Given the description of an element on the screen output the (x, y) to click on. 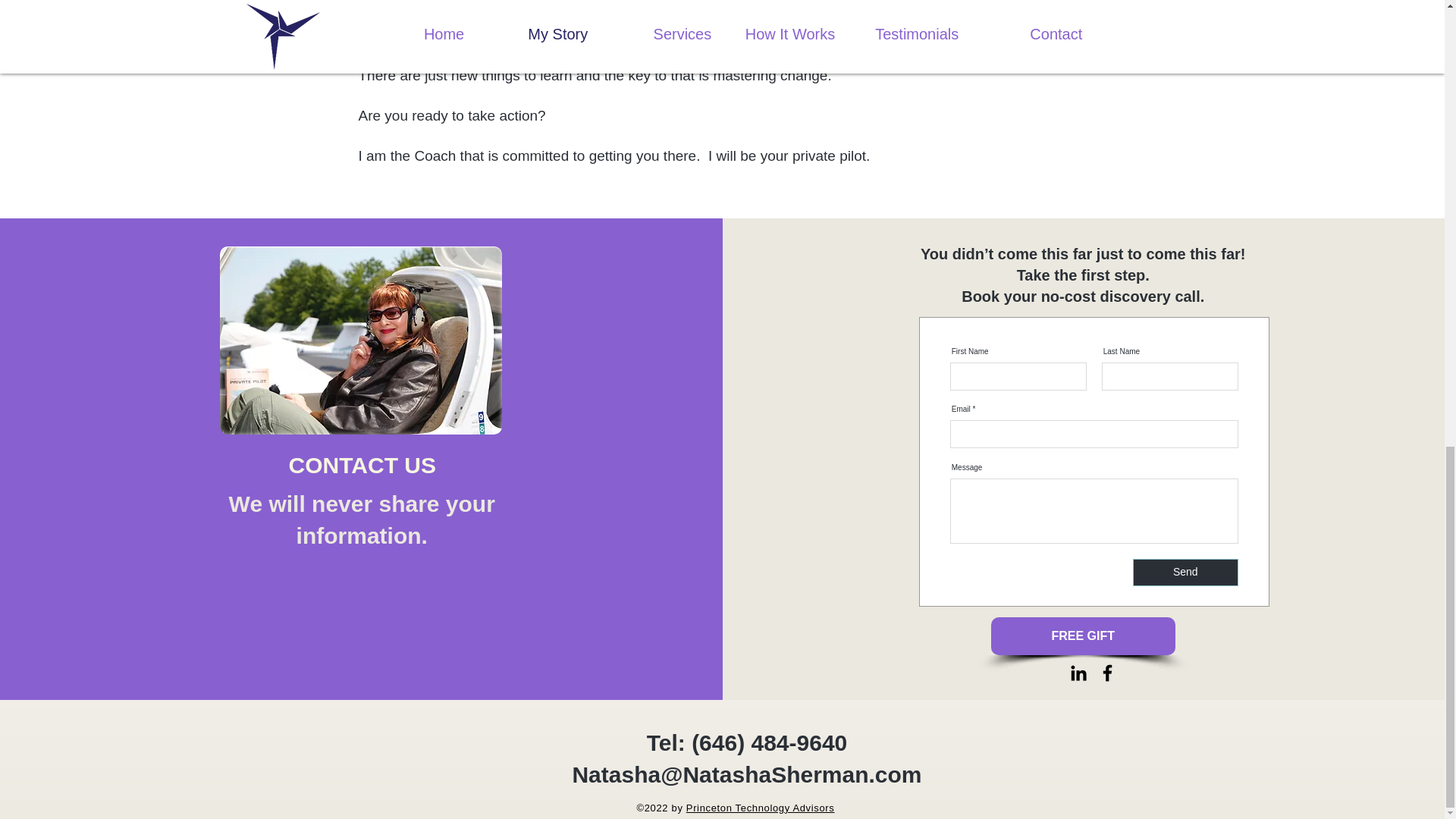
Send (1185, 572)
FREE GIFT (1082, 636)
Princeton Technology Advisors (759, 808)
